Given the description of an element on the screen output the (x, y) to click on. 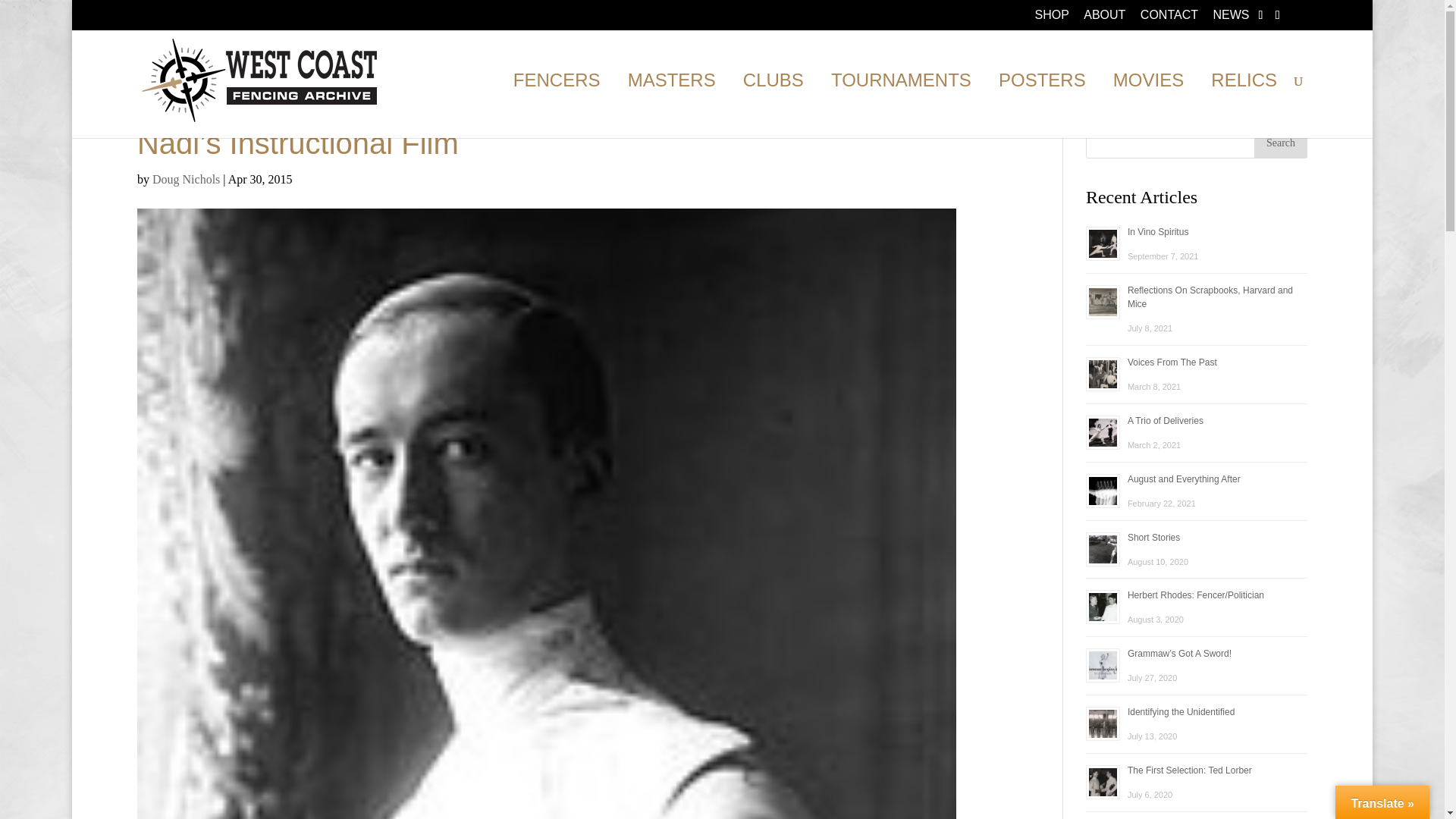
SHOP (1050, 19)
MASTERS (671, 106)
In Vino Spiritus (1157, 231)
TOURNAMENTS (901, 106)
MOVIES (1148, 106)
August and Everything After (1183, 479)
NEWS (1230, 19)
CONTACT (1169, 19)
POSTERS (1042, 106)
CLUBS (772, 106)
